Given the description of an element on the screen output the (x, y) to click on. 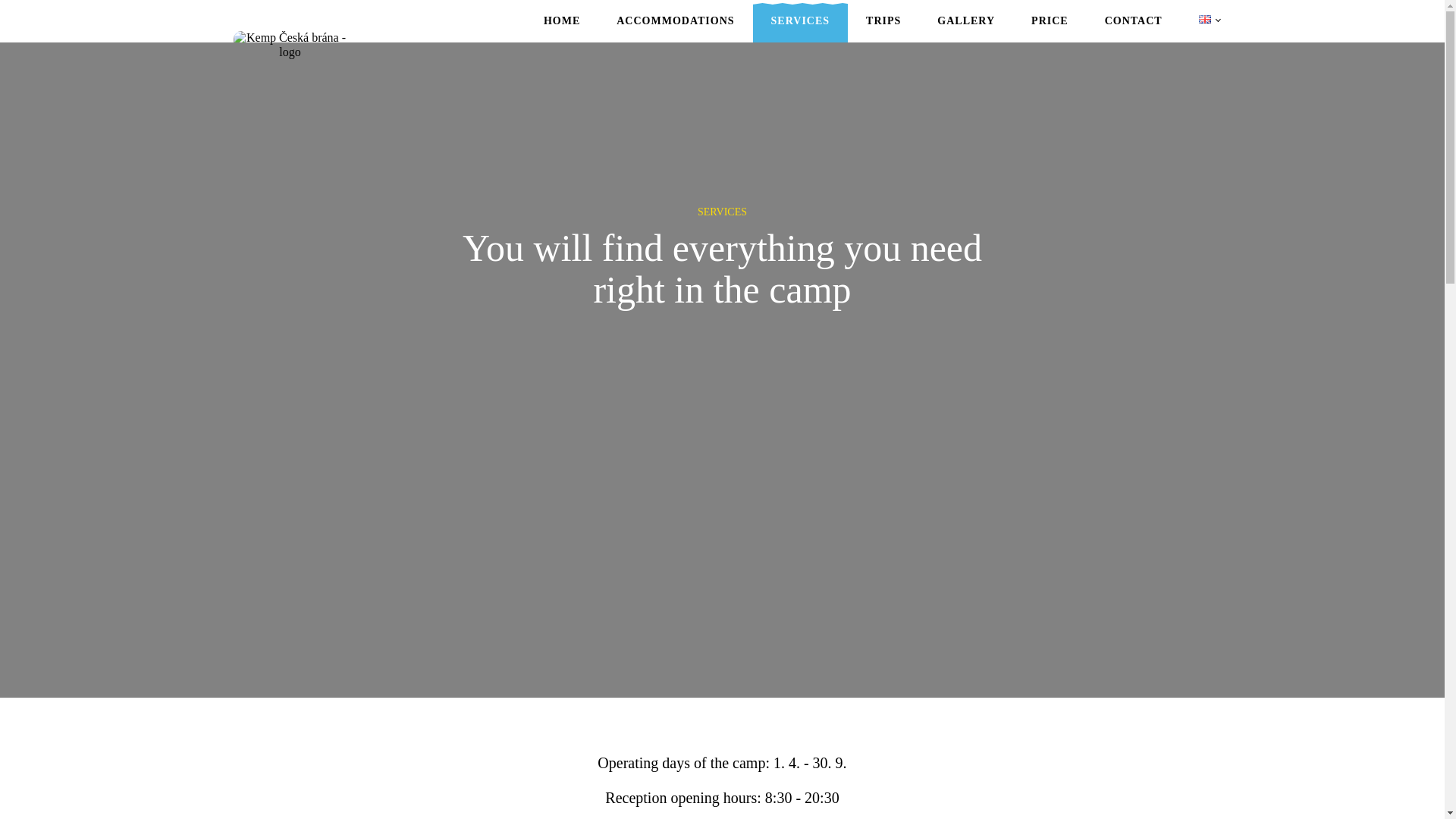
PRICE (1049, 21)
HOME (561, 21)
GALLERY (965, 21)
CONTACT (1133, 21)
SERVICES (800, 21)
TRIPS (882, 21)
ACCOMMODATIONS (675, 21)
